Given the description of an element on the screen output the (x, y) to click on. 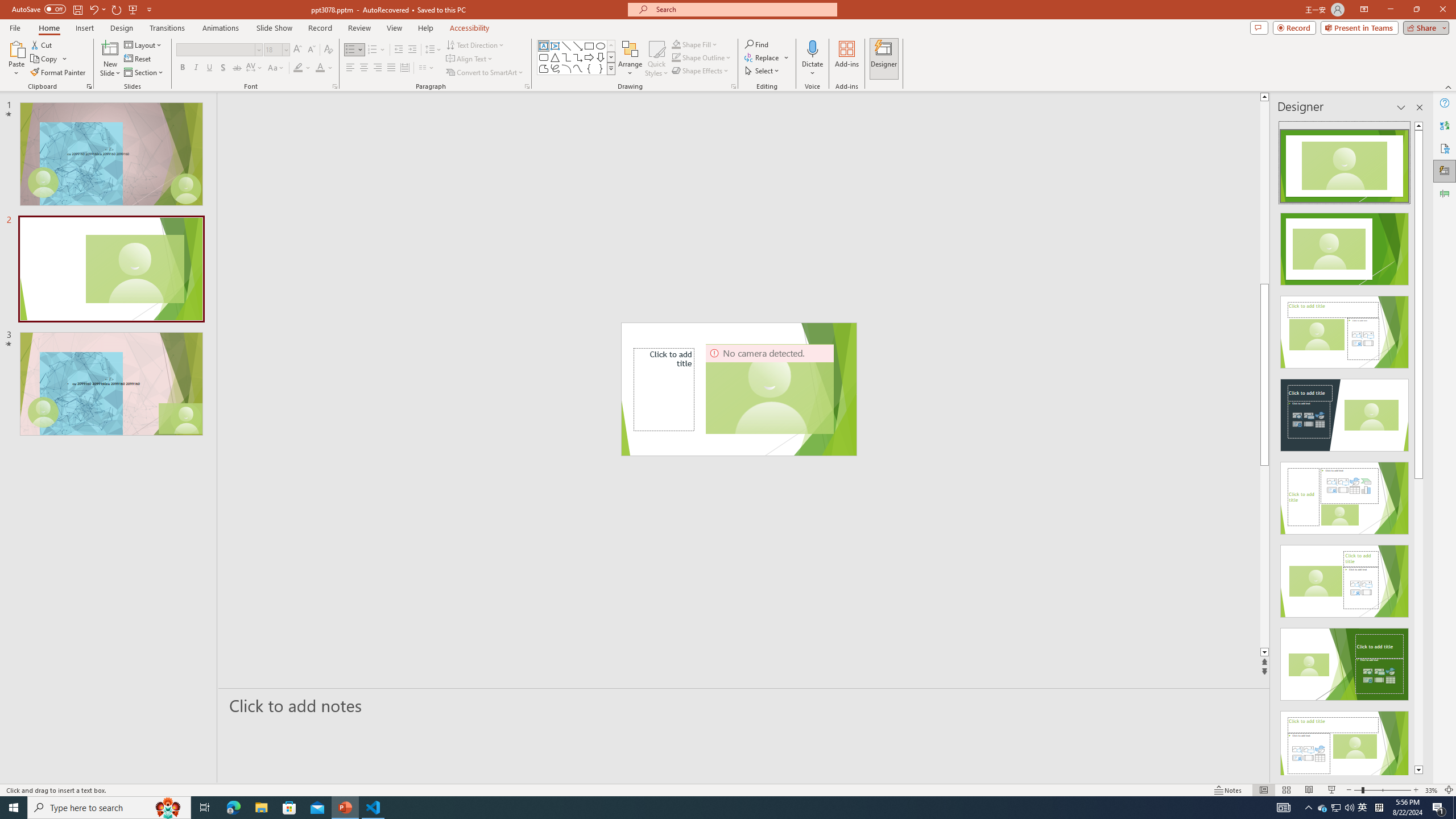
Shape Fill Dark Green, Accent 2 (675, 44)
